Given the description of an element on the screen output the (x, y) to click on. 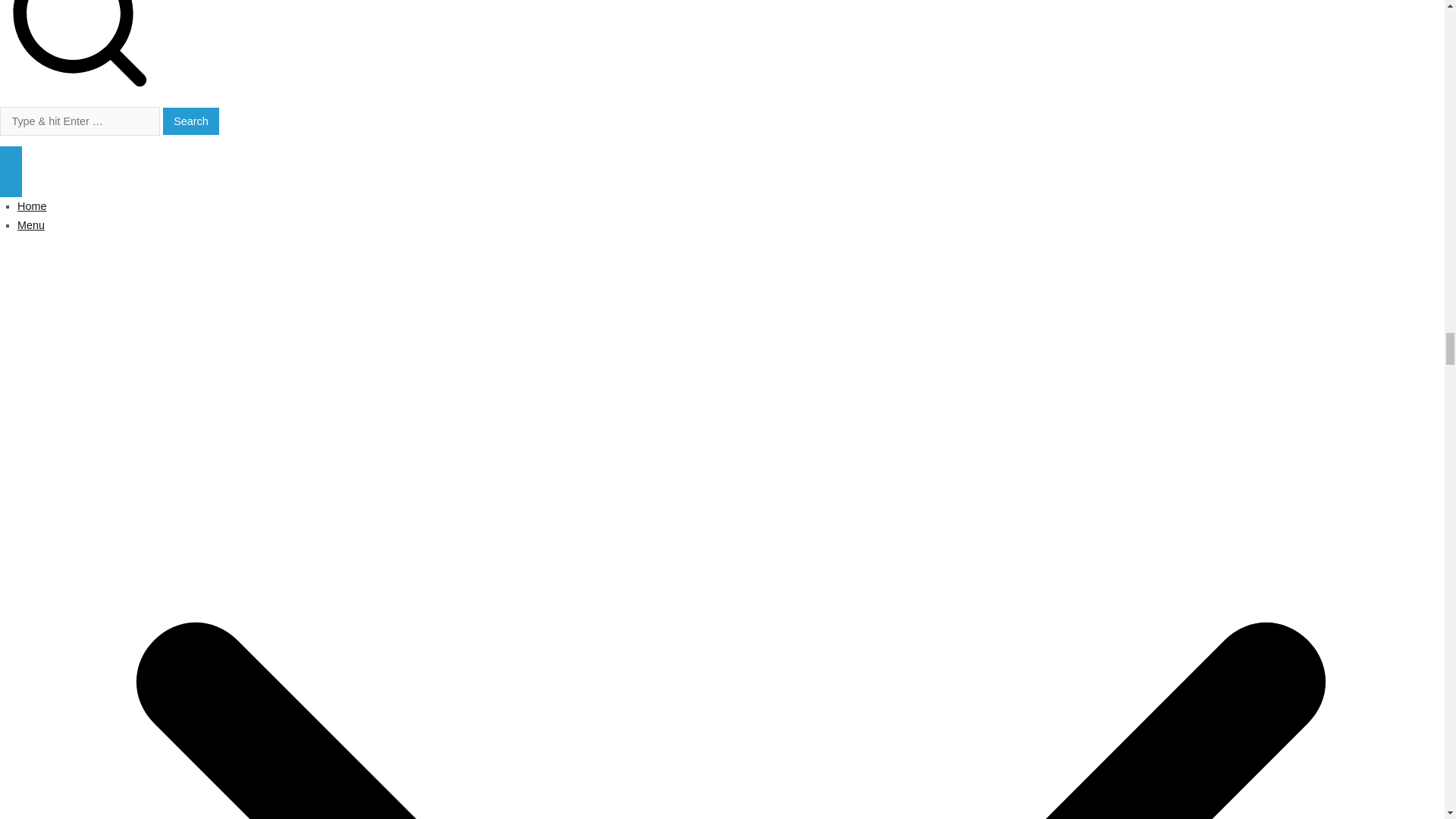
Home (31, 205)
Search for: (80, 121)
Search (191, 121)
Search (191, 121)
Search (191, 121)
